Given the description of an element on the screen output the (x, y) to click on. 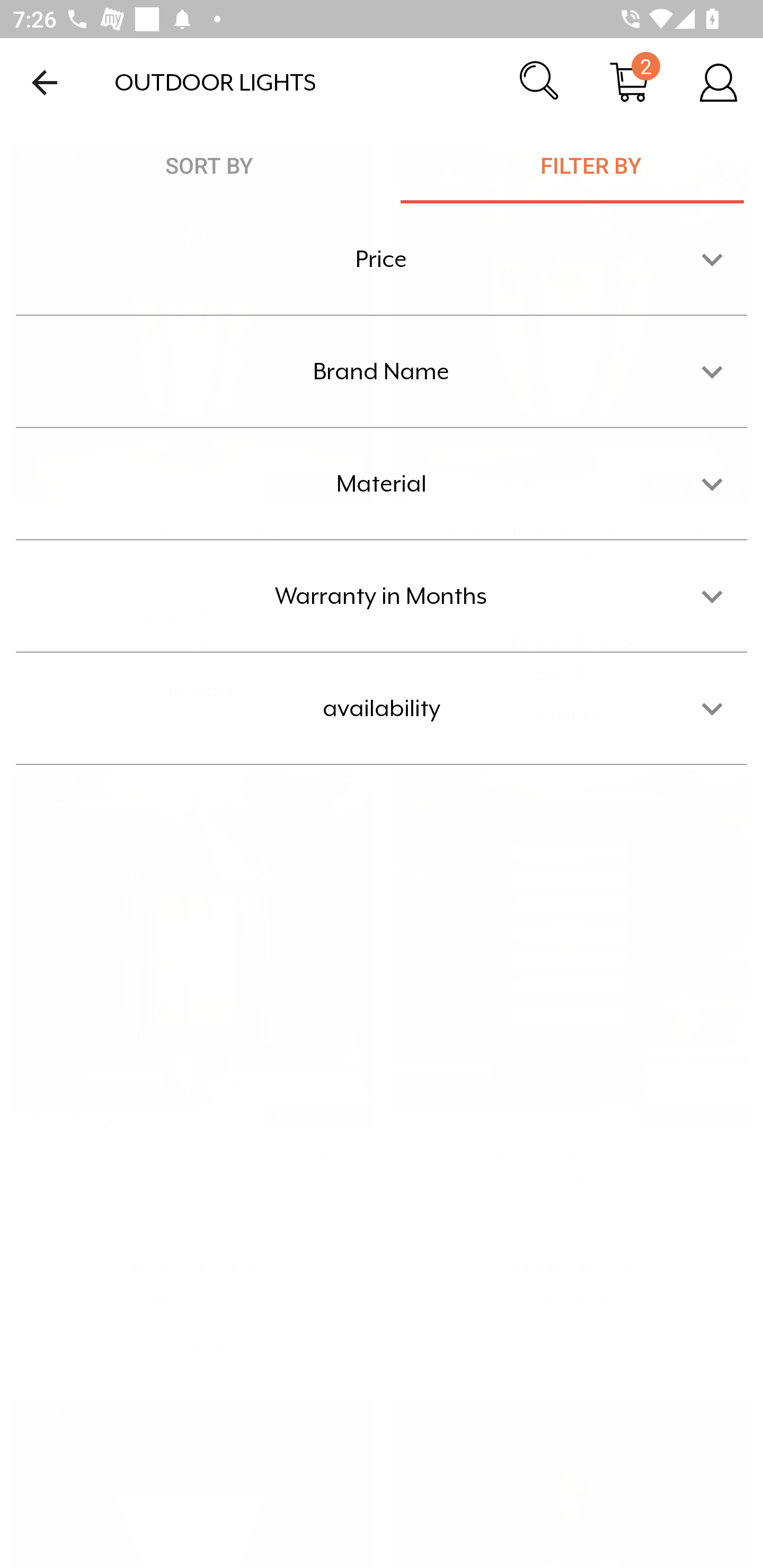
Navigate up (44, 82)
Search (540, 81)
Cart (629, 81)
Account Details (718, 81)
Sort By SORT BY (209, 165)
Filter By FILTER BY (581, 165)
Brand Name  (381, 370)
Material  (381, 483)
Warranty in Months  (381, 596)
availability  (381, 707)
